Given the description of an element on the screen output the (x, y) to click on. 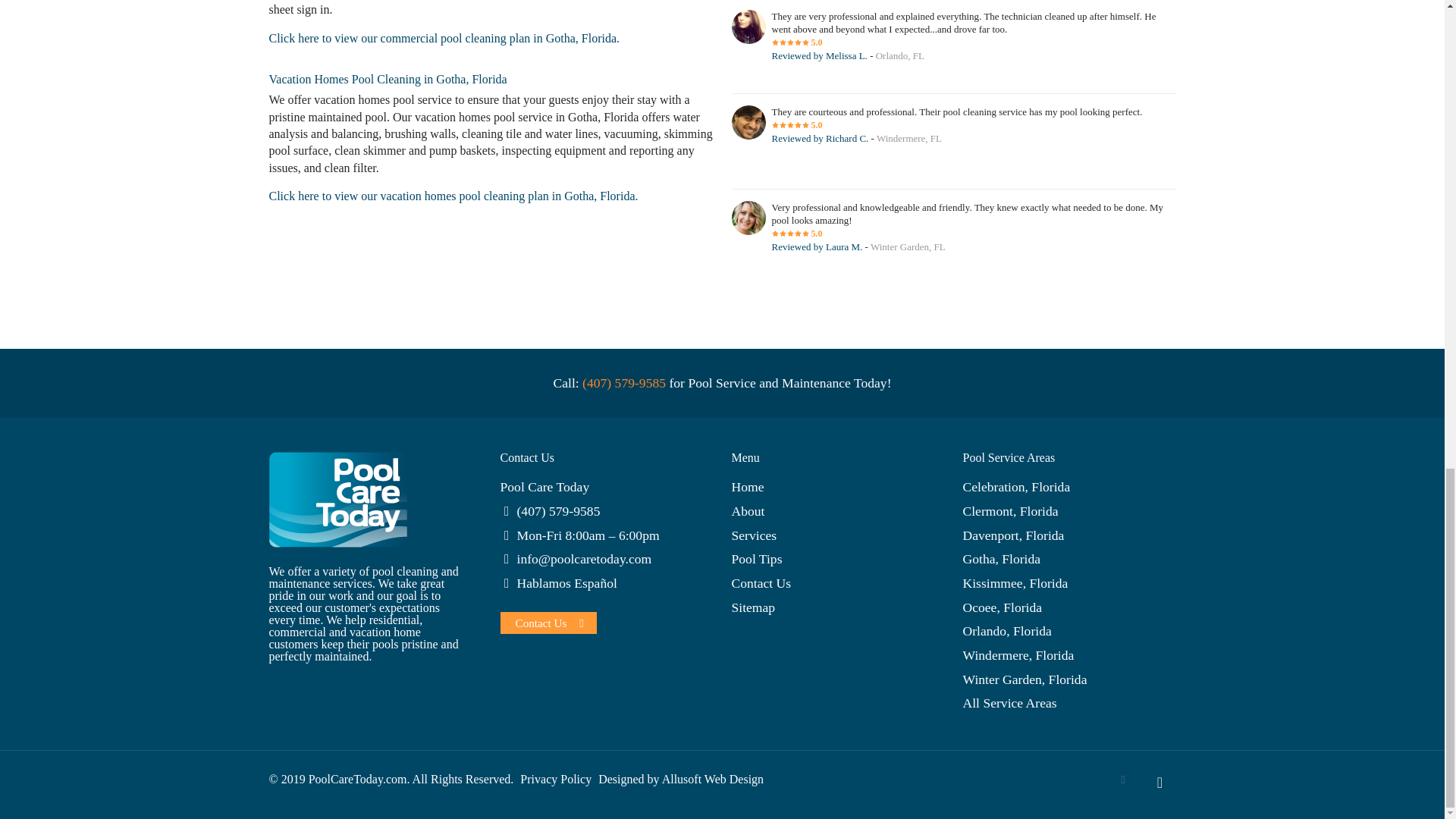
Instagram (1123, 779)
